Given the description of an element on the screen output the (x, y) to click on. 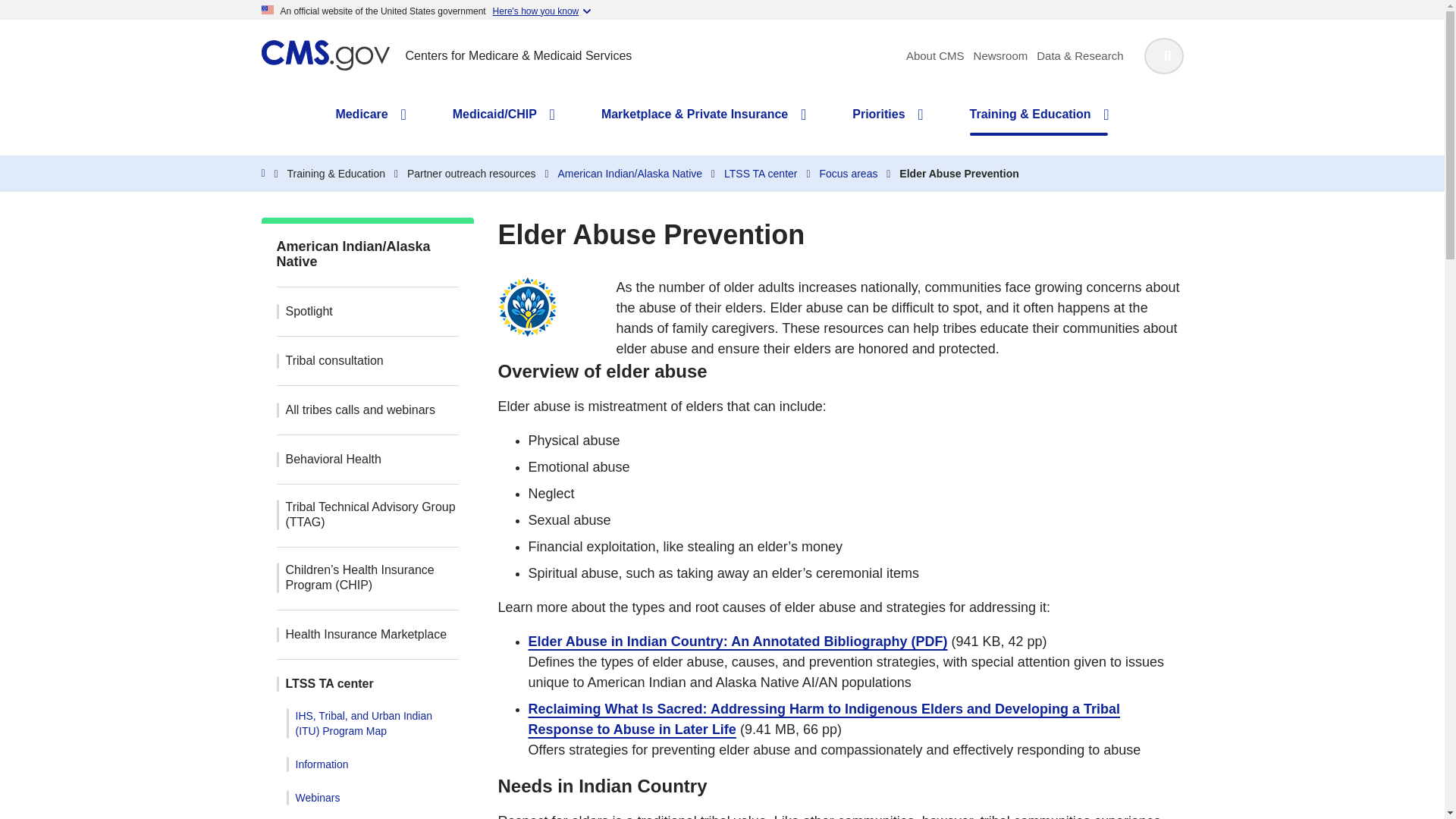
Search (1162, 55)
About CMS (934, 55)
Search (1162, 55)
CMS Home (262, 173)
Here's how you know (542, 9)
Newsroom (1000, 55)
